Given the description of an element on the screen output the (x, y) to click on. 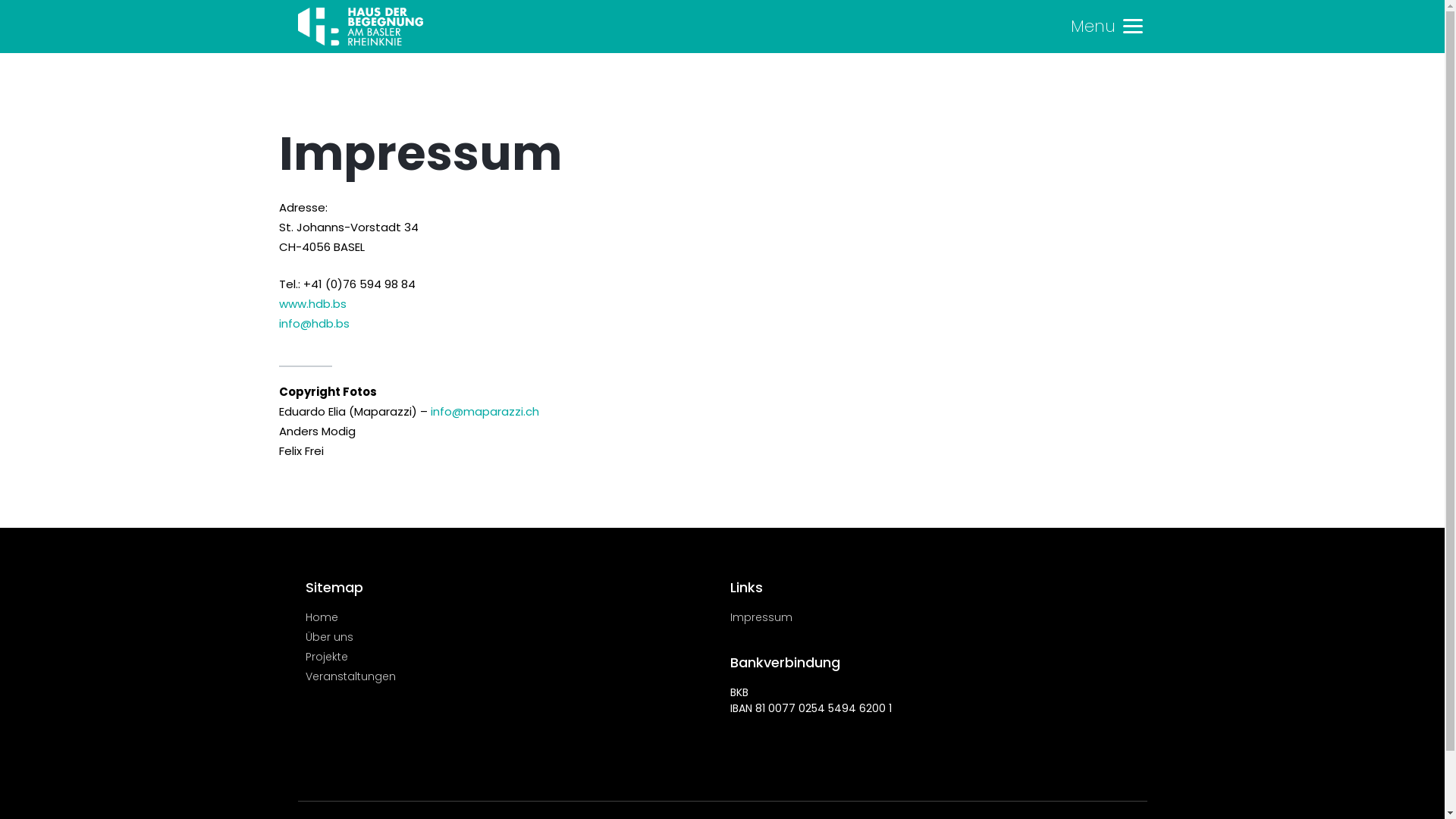
www.hdb.bs Element type: text (312, 303)
Veranstaltungen Element type: text (509, 676)
Projekte Element type: text (509, 657)
info@maparazzi.ch Element type: text (484, 411)
Impressum Element type: text (934, 617)
info@hdb.bs Element type: text (314, 323)
Home Element type: text (509, 617)
